Given the description of an element on the screen output the (x, y) to click on. 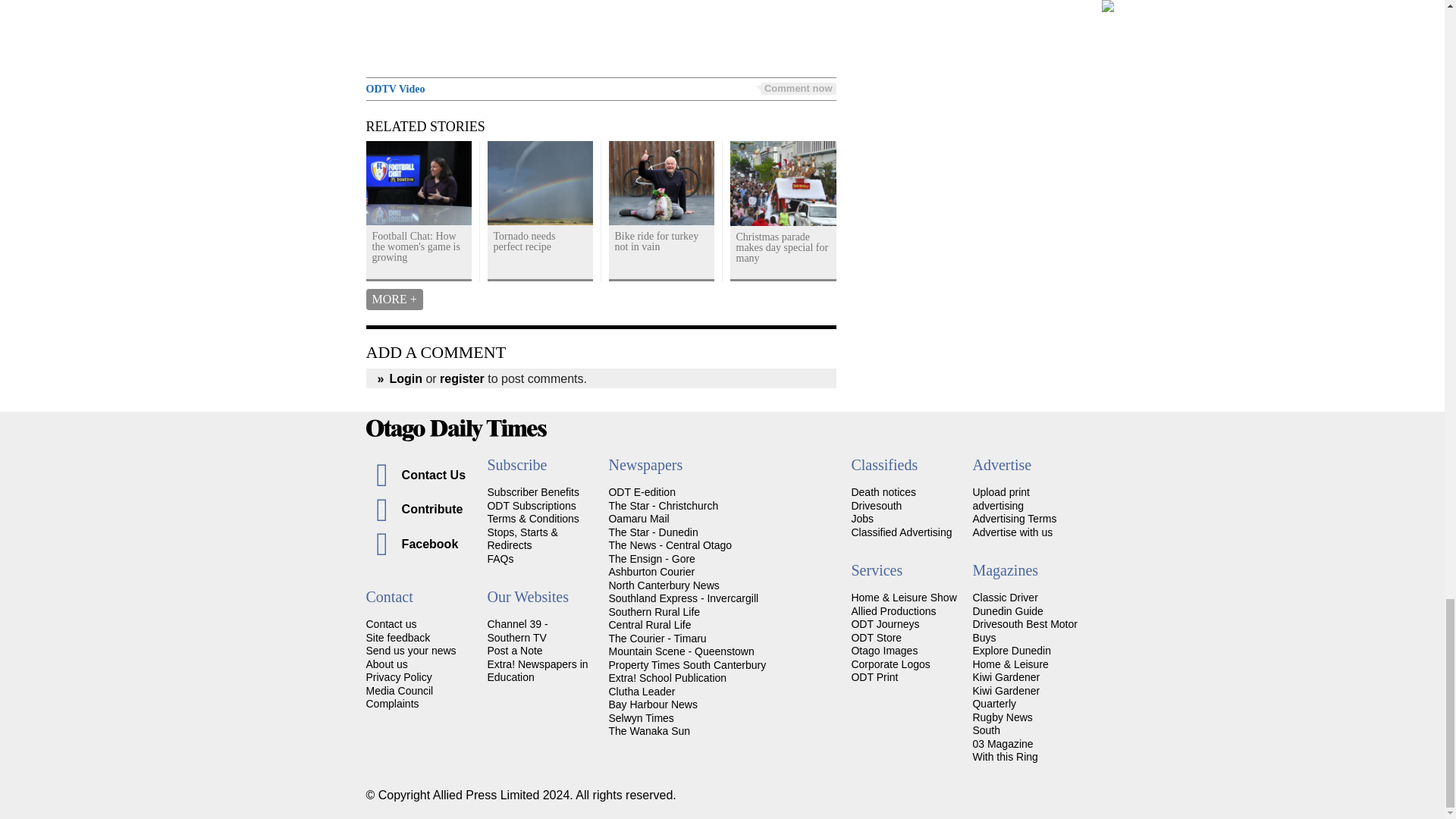
Get in touch (390, 623)
Home (721, 430)
Ways to subscribe to the Otago Daily Times (530, 505)
Let us know what you think (397, 637)
Get the ODT delivered right to you! (532, 491)
